Given the description of an element on the screen output the (x, y) to click on. 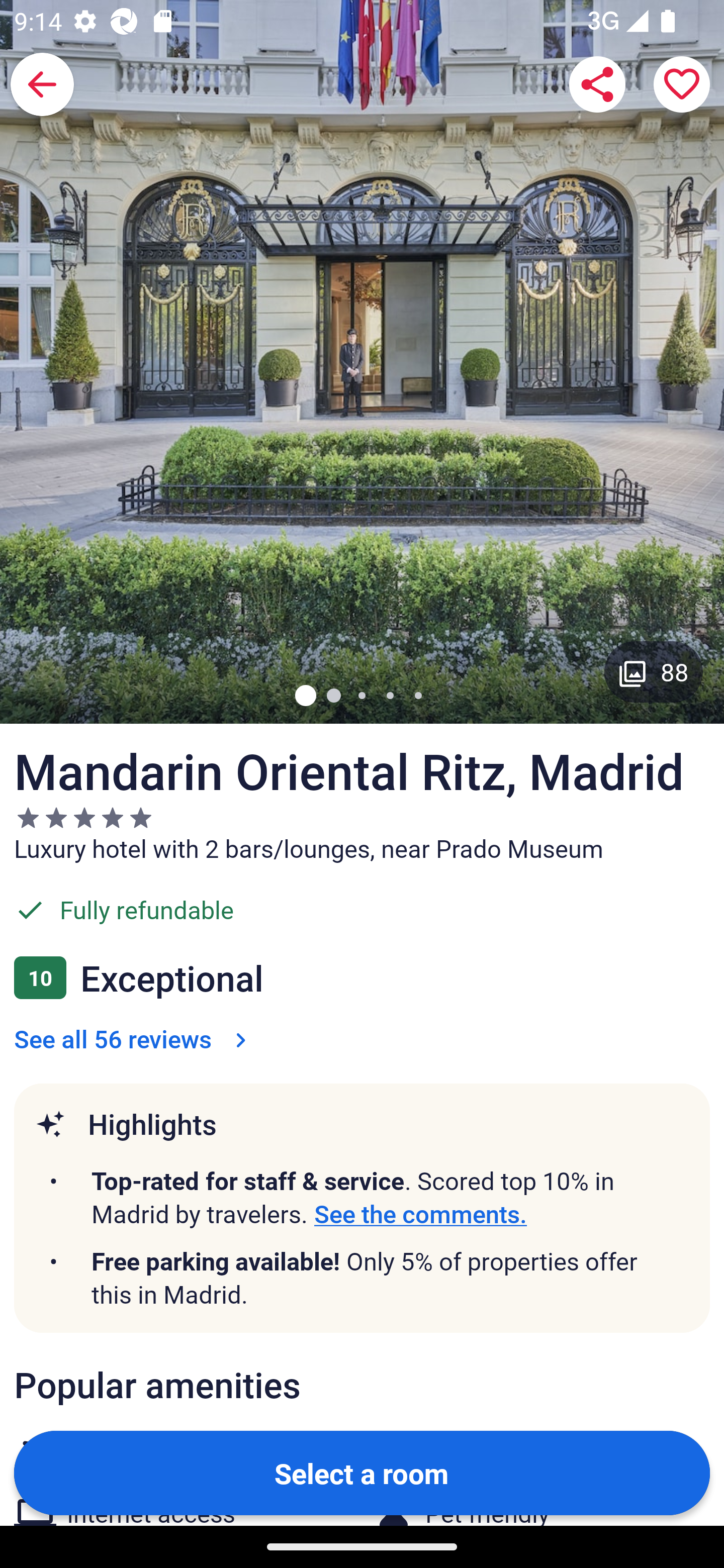
Back (42, 84)
Save property to a trip (681, 84)
Share Mandarin Oriental Ritz, Madrid (597, 84)
Gallery button with 88 images (653, 671)
See all 56 reviews See all 56 reviews Link (133, 1038)
Select a room Button Select a room (361, 1472)
